Given the description of an element on the screen output the (x, y) to click on. 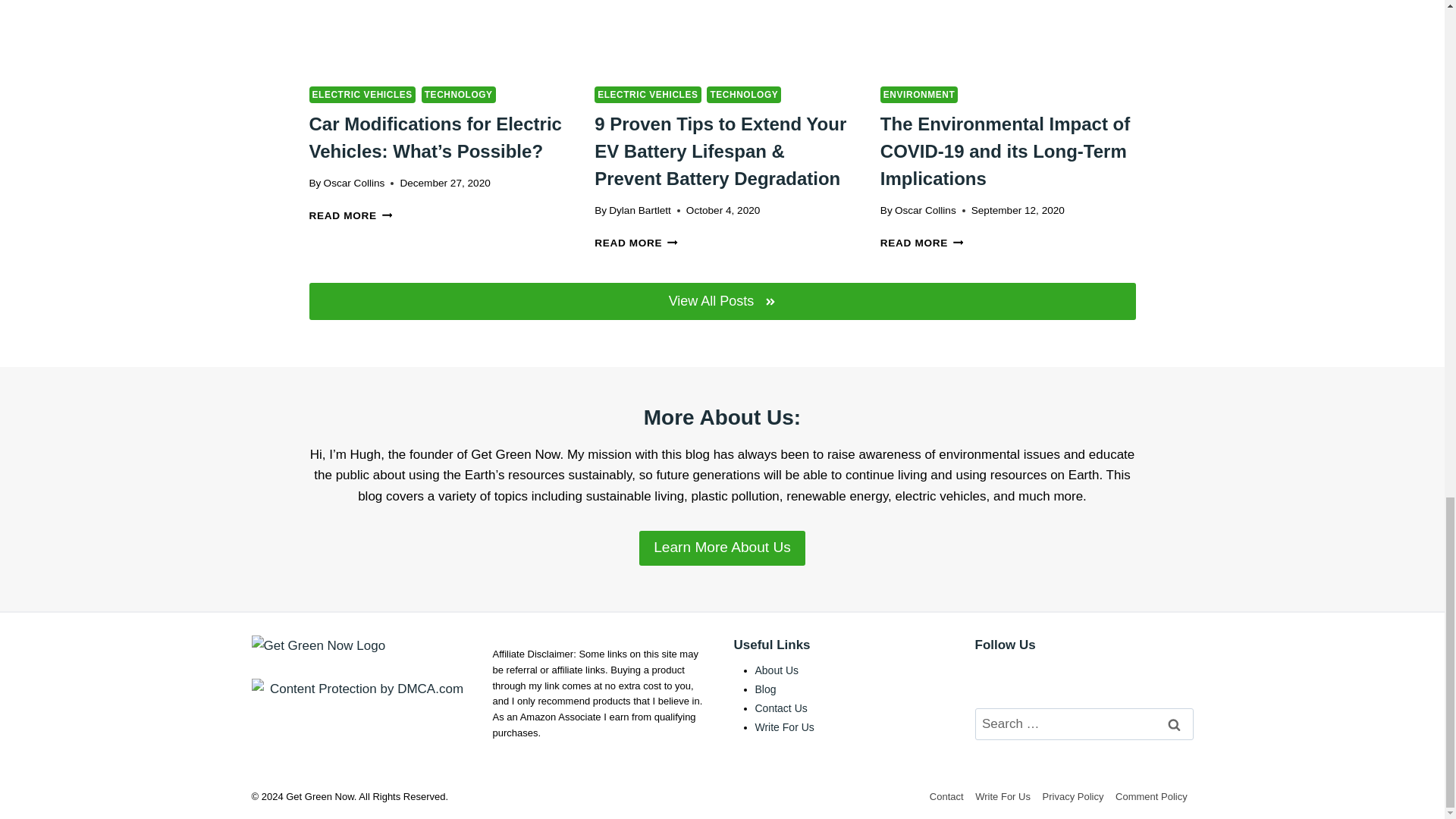
ELECTRIC VEHICLES (647, 94)
Search (1174, 724)
READ MORE (350, 215)
ELECTRIC VEHICLES (361, 94)
Content Protection by DMCA.com (360, 688)
TECHNOLOGY (459, 94)
Search (1174, 724)
